Given the description of an element on the screen output the (x, y) to click on. 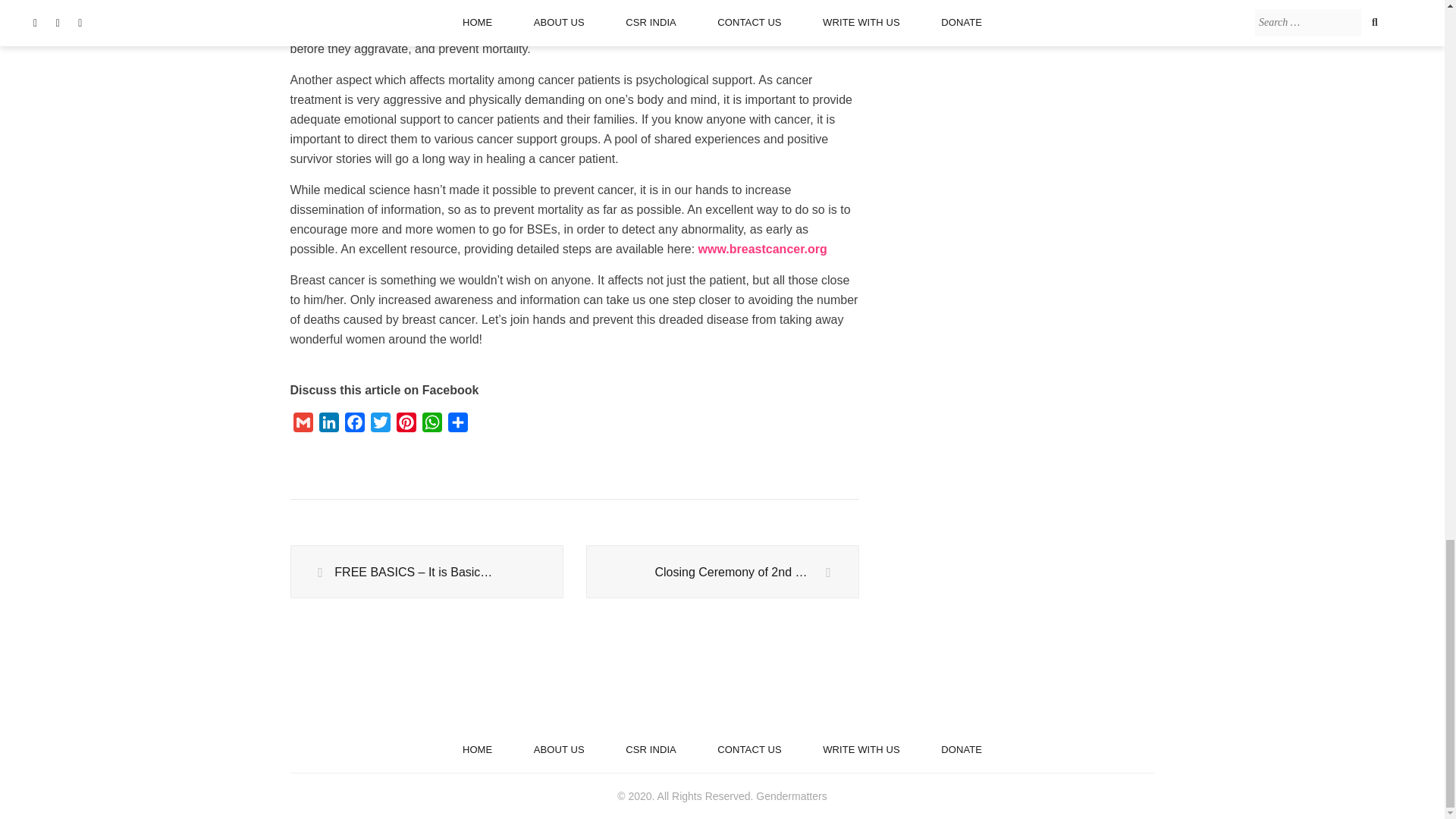
Facebook (353, 425)
LinkedIn (327, 425)
WhatsApp (431, 425)
WhatsApp (431, 425)
Gmail (302, 425)
Pinterest (406, 425)
FREE BASICS - It is Basic, It is Free! (426, 572)
Pinterest (406, 425)
Facebook (353, 425)
Closing Ceremony of 2nd Self Defence Winter Camp (722, 572)
